Given the description of an element on the screen output the (x, y) to click on. 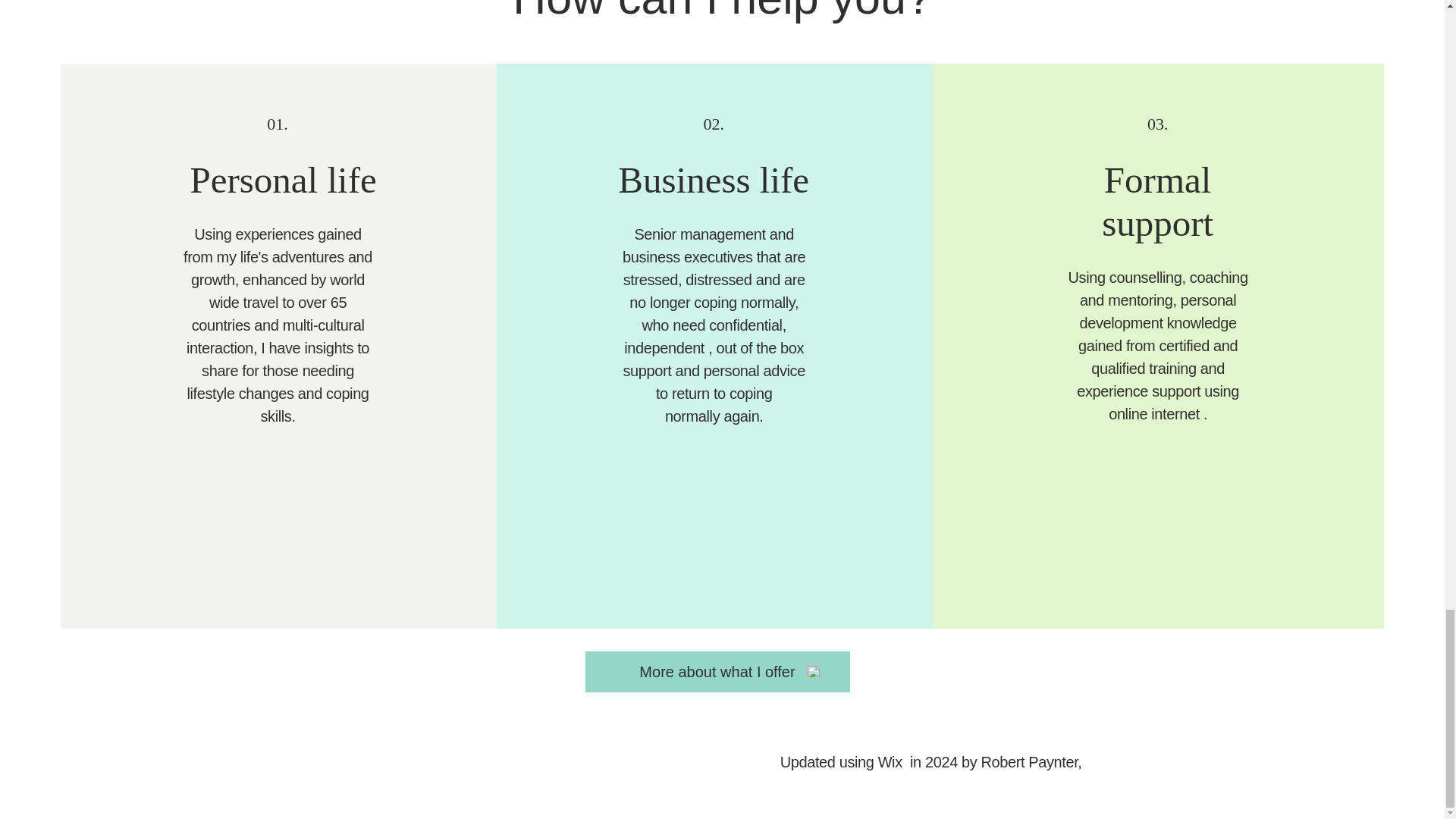
Formal support (1157, 201)
Personal life (282, 179)
Business life (713, 179)
More about what I offer (717, 671)
